Given the description of an element on the screen output the (x, y) to click on. 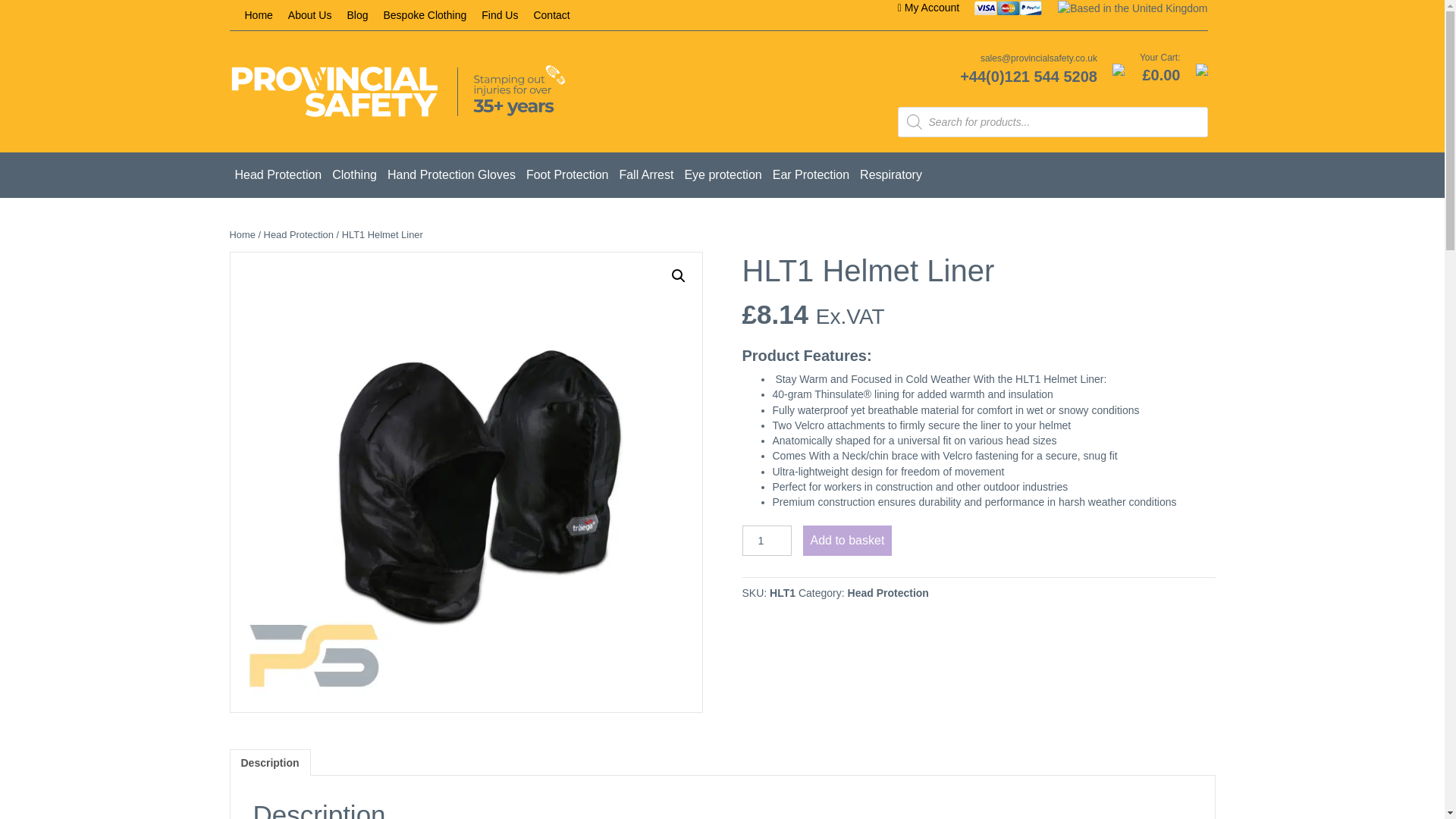
Head Protection (298, 234)
Contact Us (1118, 69)
Ear Protection (810, 174)
My Account (928, 7)
Ps Logo Landscape (397, 91)
Fall Arrest (645, 174)
Find Us (499, 15)
Foot Protection (567, 174)
1 (765, 540)
View Basket (1201, 69)
About Us (309, 15)
Description (270, 762)
Contact (550, 15)
Eye protection (722, 174)
